Given the description of an element on the screen output the (x, y) to click on. 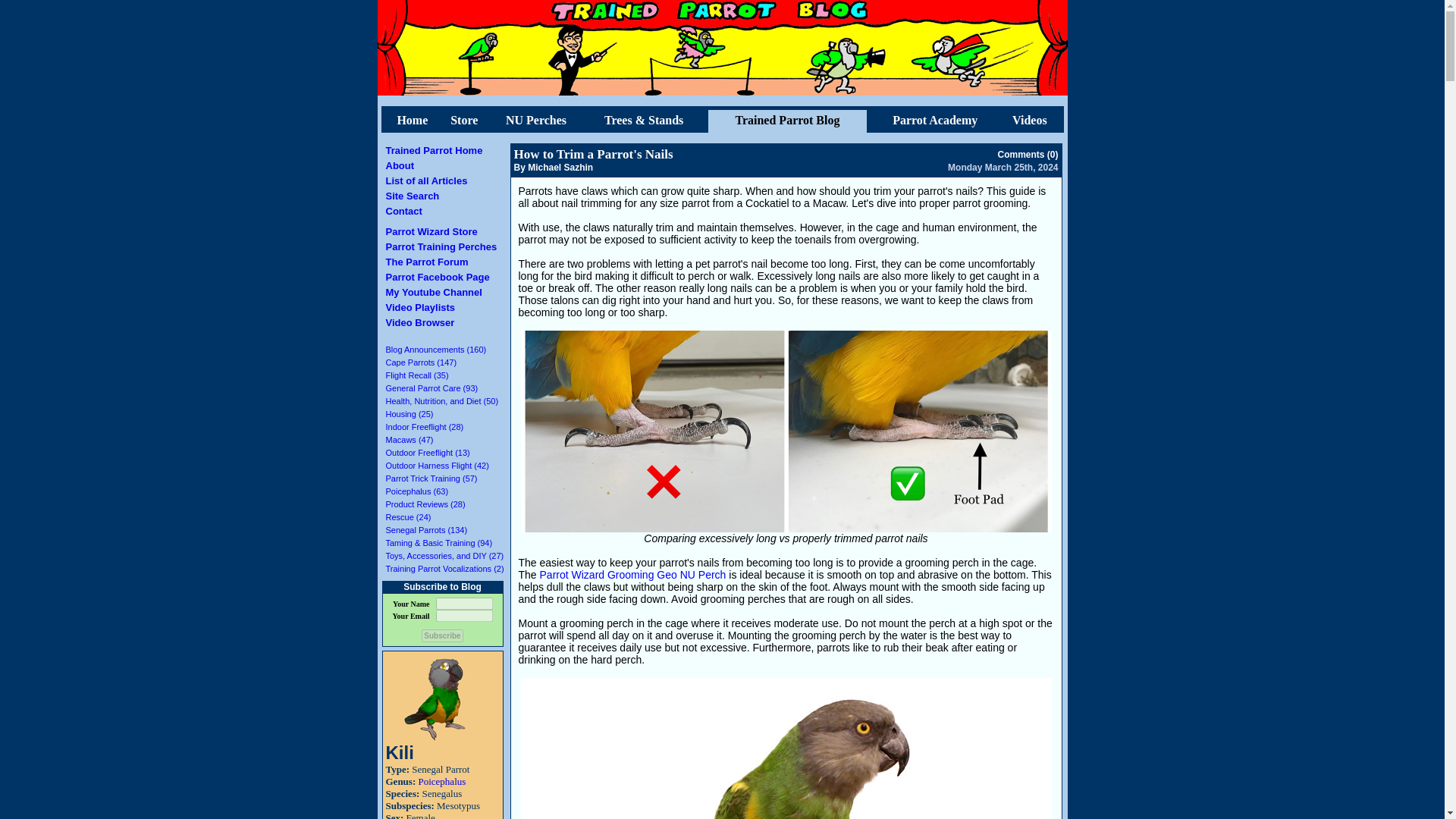
Home (412, 119)
Trained Parrot Home (433, 150)
About the Parrot Wizard. (399, 165)
Contact the Trained Parrot Blog Writer (403, 211)
Video Browser (419, 322)
All Parrots Youtube Channel featuring Parrot Wizard (433, 292)
Contact (403, 211)
About (399, 165)
Parrot Academy (934, 119)
Site Search (412, 195)
List of all Articles (426, 180)
Video Playlists (419, 307)
Parrot Training Perches (440, 246)
